Given the description of an element on the screen output the (x, y) to click on. 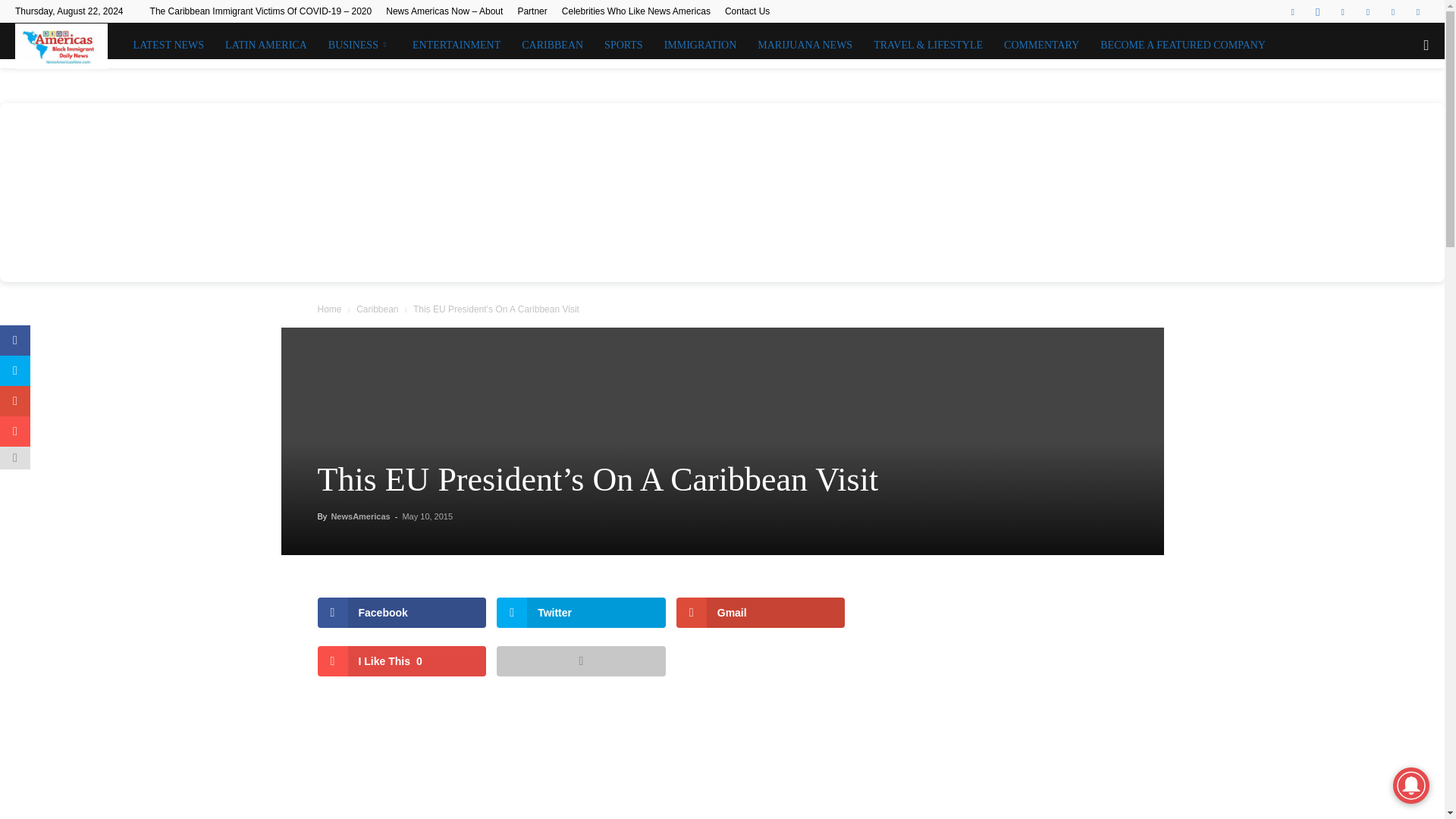
LATEST NEWS (168, 44)
Black-immigrant-Daily-News (60, 45)
Instagram (1317, 11)
BUSINESS (359, 44)
Pinterest (1367, 11)
Partner (531, 10)
Facebook (1292, 11)
Youtube (1417, 11)
LATIN AMERICA (265, 44)
Linkedin (1343, 11)
